Given the description of an element on the screen output the (x, y) to click on. 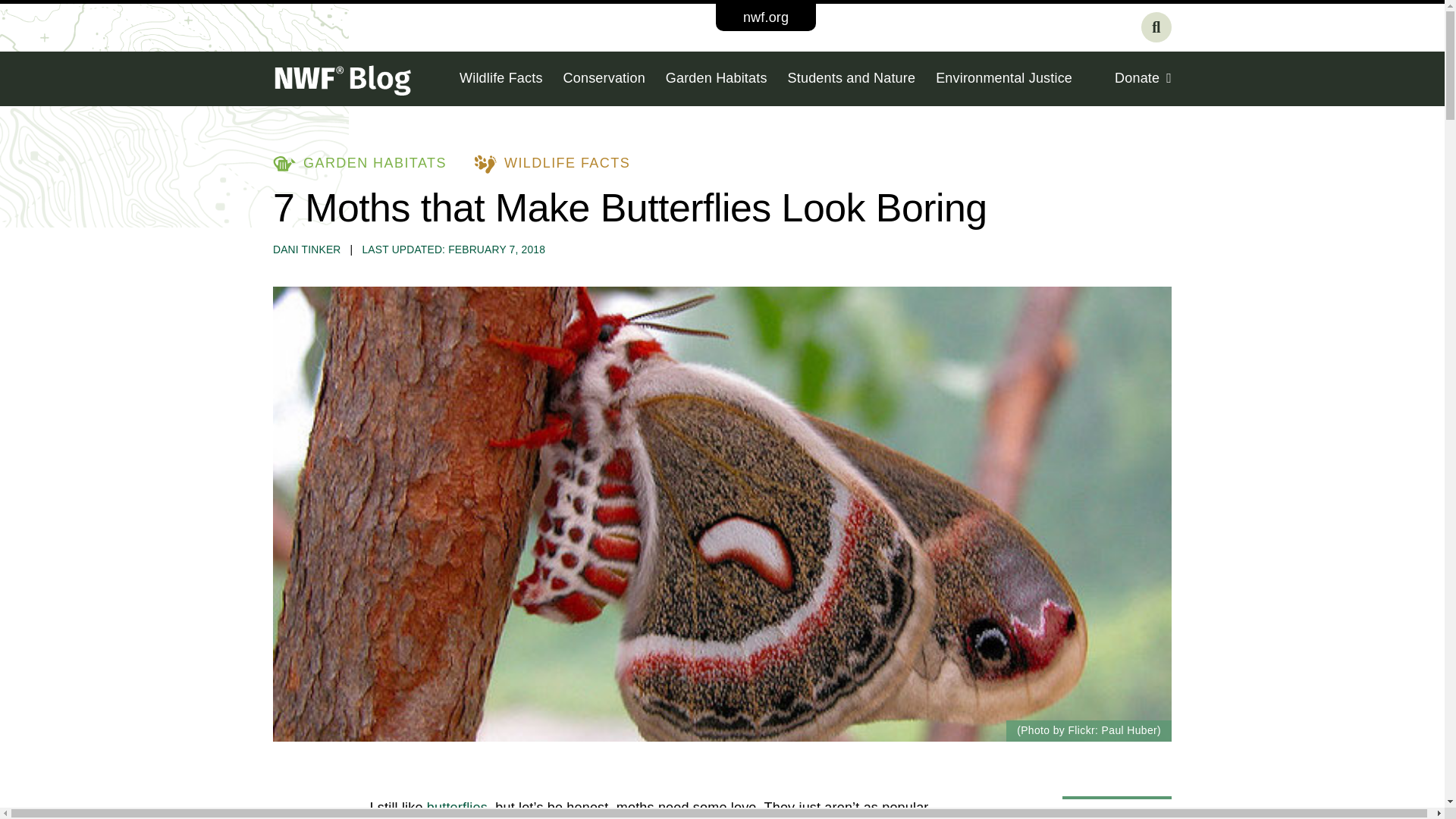
GARDEN HABITATS (359, 163)
butterflies (456, 807)
WILDLIFE FACTS (552, 163)
DANI TINKER (306, 249)
Conservation (604, 78)
Garden Habitats (716, 78)
Students and Nature (851, 78)
Environmental Justice (1003, 78)
Wildlife Facts (501, 78)
LAST UPDATED: FEBRUARY 7, 2018 (452, 249)
